Given the description of an element on the screen output the (x, y) to click on. 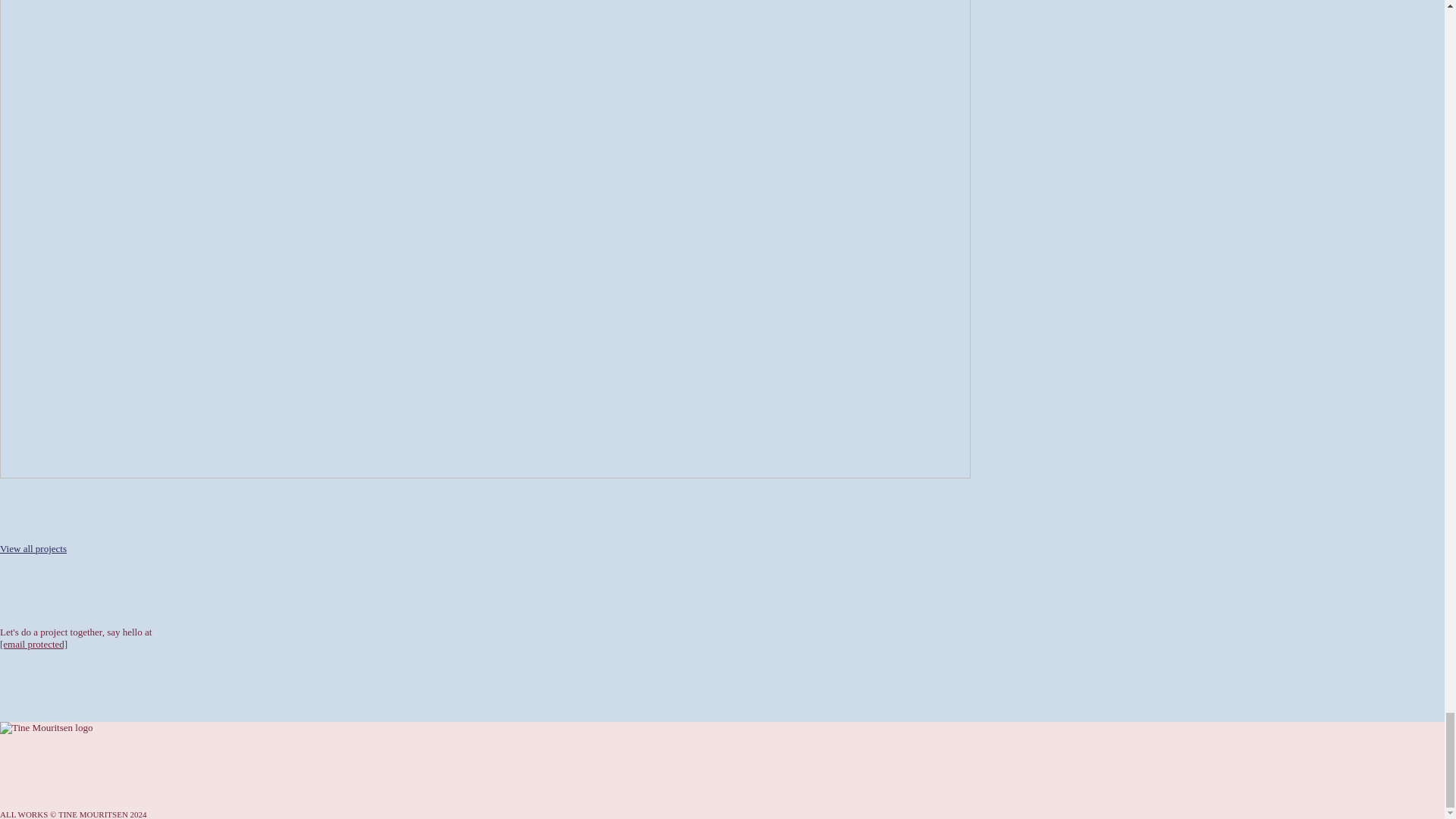
View all projects (33, 548)
